Given the description of an element on the screen output the (x, y) to click on. 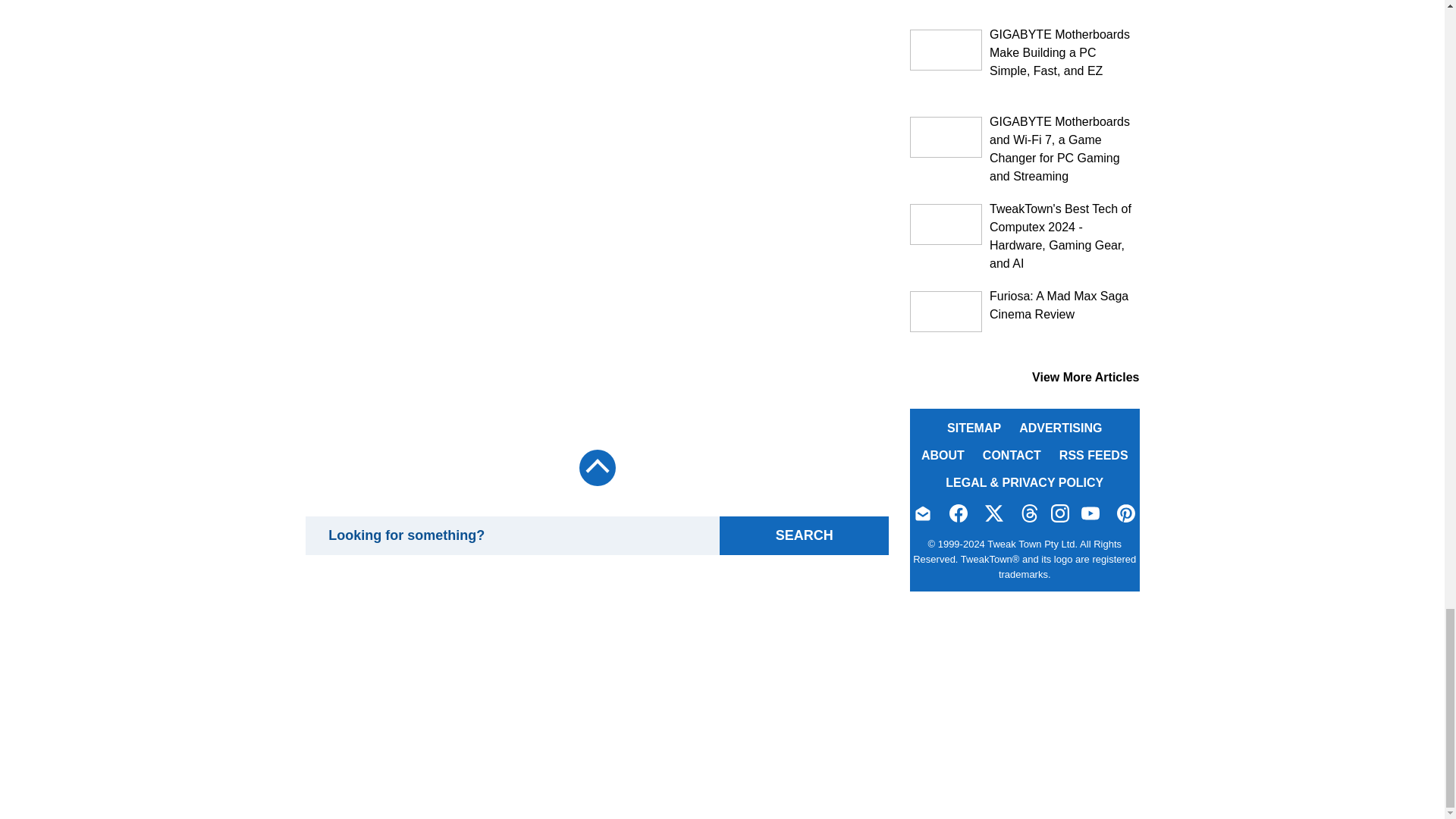
Search! (803, 535)
SEARCH (803, 535)
Go to top of the page (596, 467)
Please enter your search term! (511, 535)
